Given the description of an element on the screen output the (x, y) to click on. 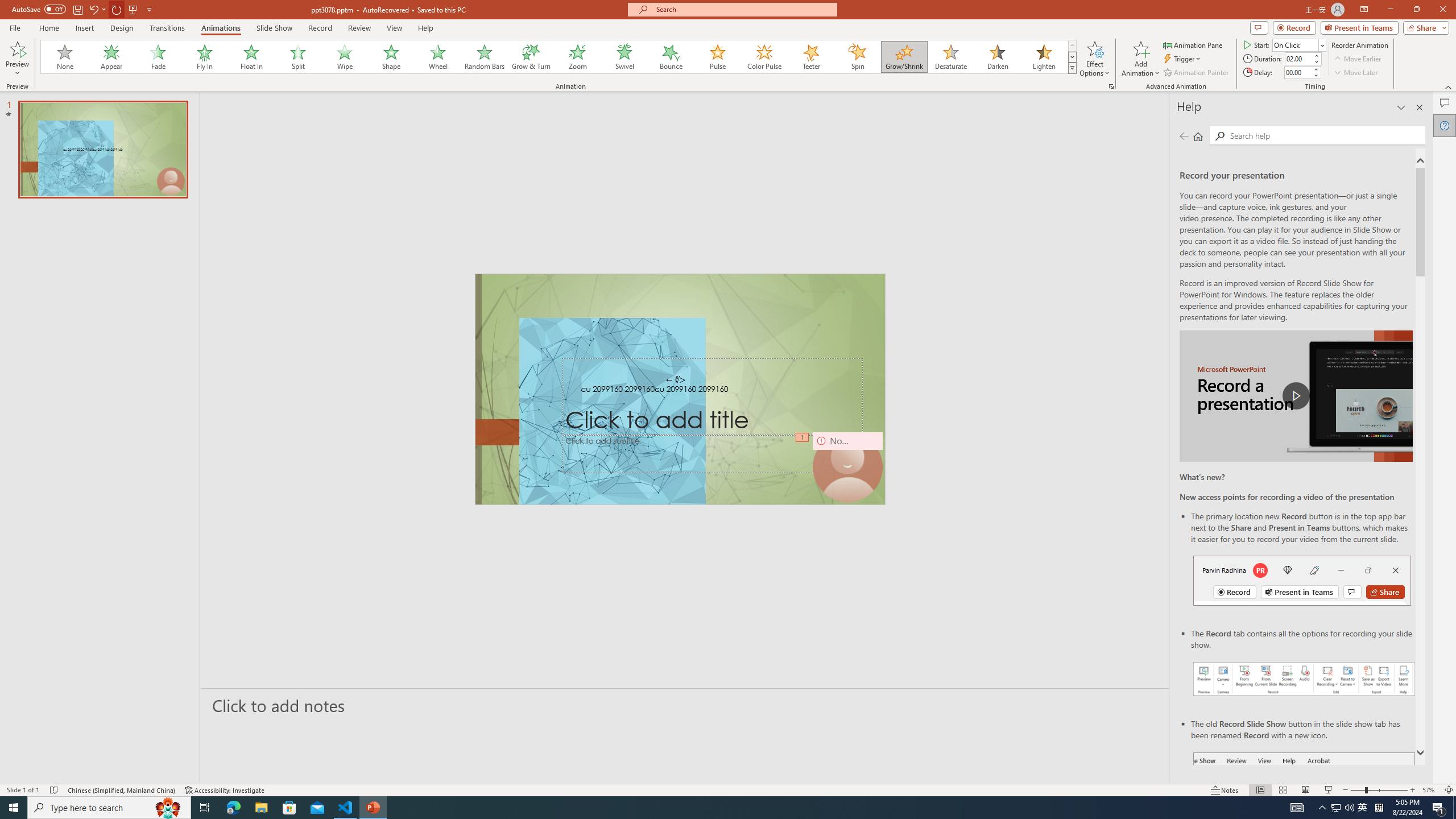
Bounce (670, 56)
Trigger (1182, 58)
Desaturate (950, 56)
TextBox 61 (679, 390)
Record button in top bar (1301, 580)
Animation Delay (1297, 72)
